Given the description of an element on the screen output the (x, y) to click on. 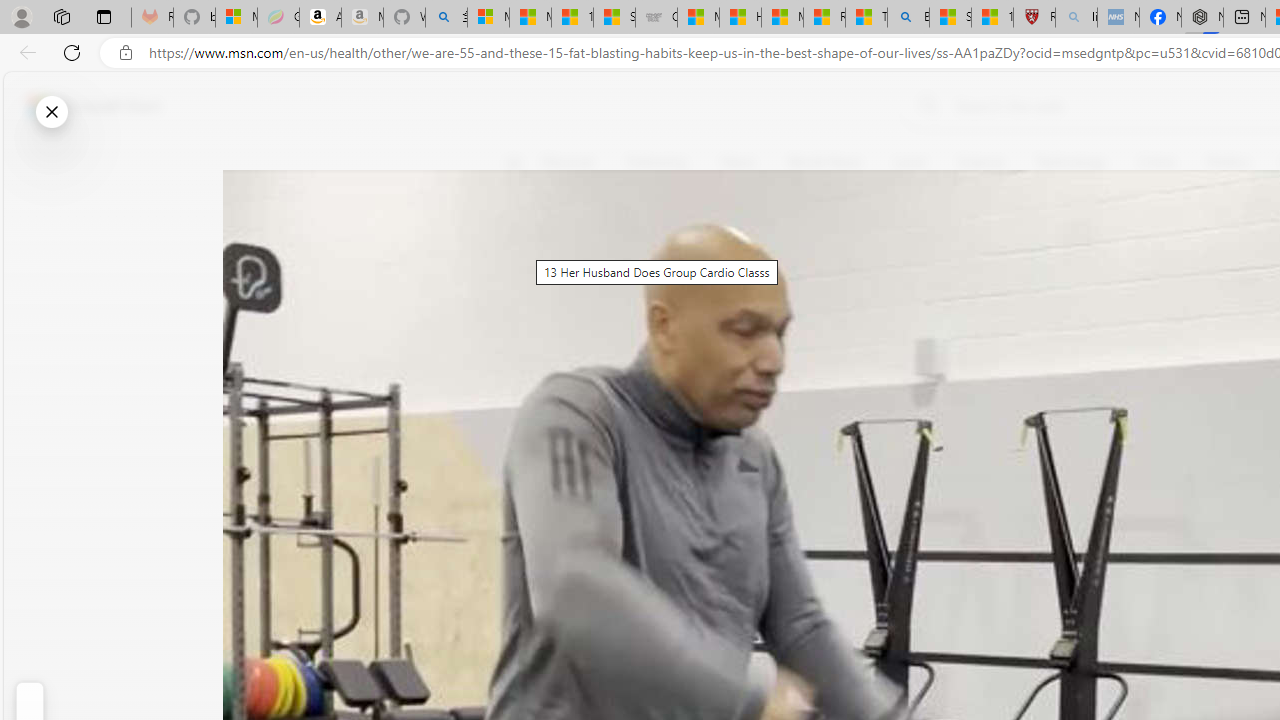
12 Popular Science Lies that Must be Corrected (991, 17)
6 (525, 300)
Robert H. Shmerling, MD - Harvard Health (1033, 17)
Bing (908, 17)
